Given the description of an element on the screen output the (x, y) to click on. 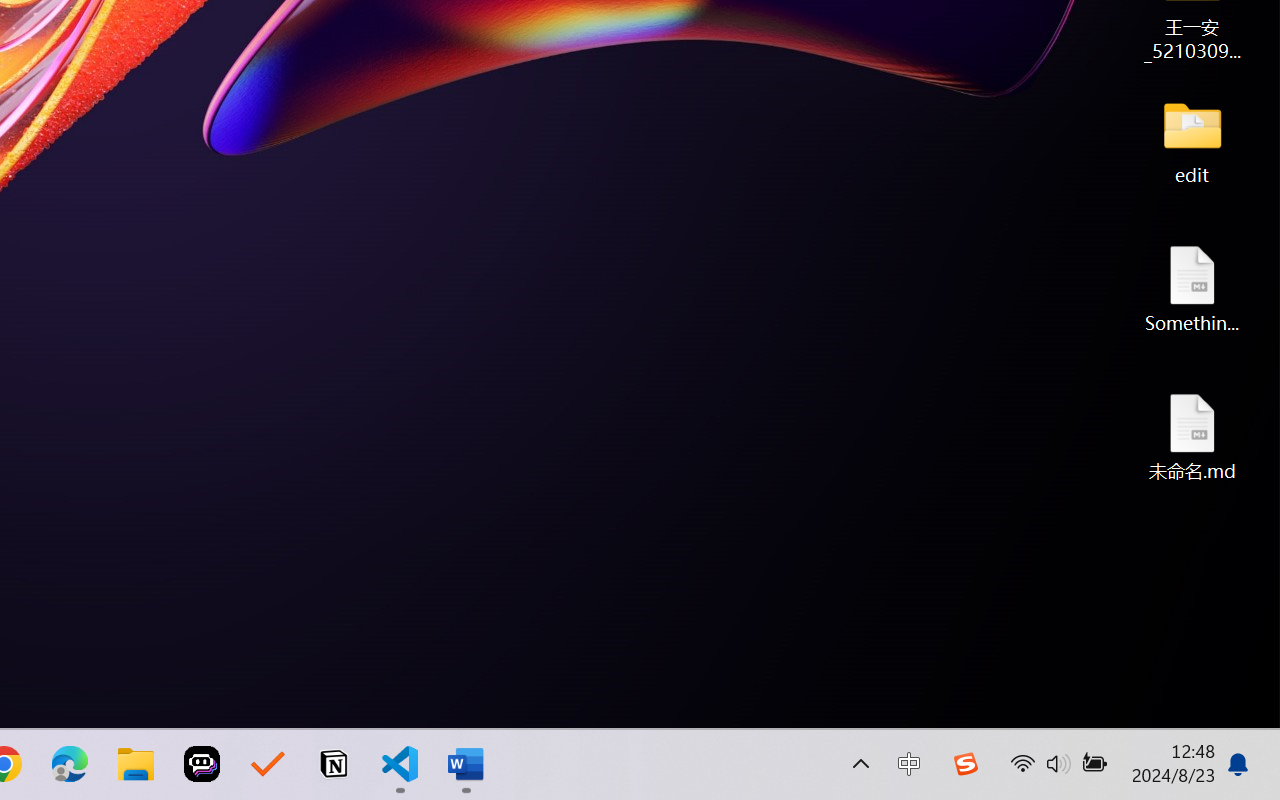
Microsoft Edge (69, 764)
edit (1192, 140)
Something.md (1192, 288)
